Given the description of an element on the screen output the (x, y) to click on. 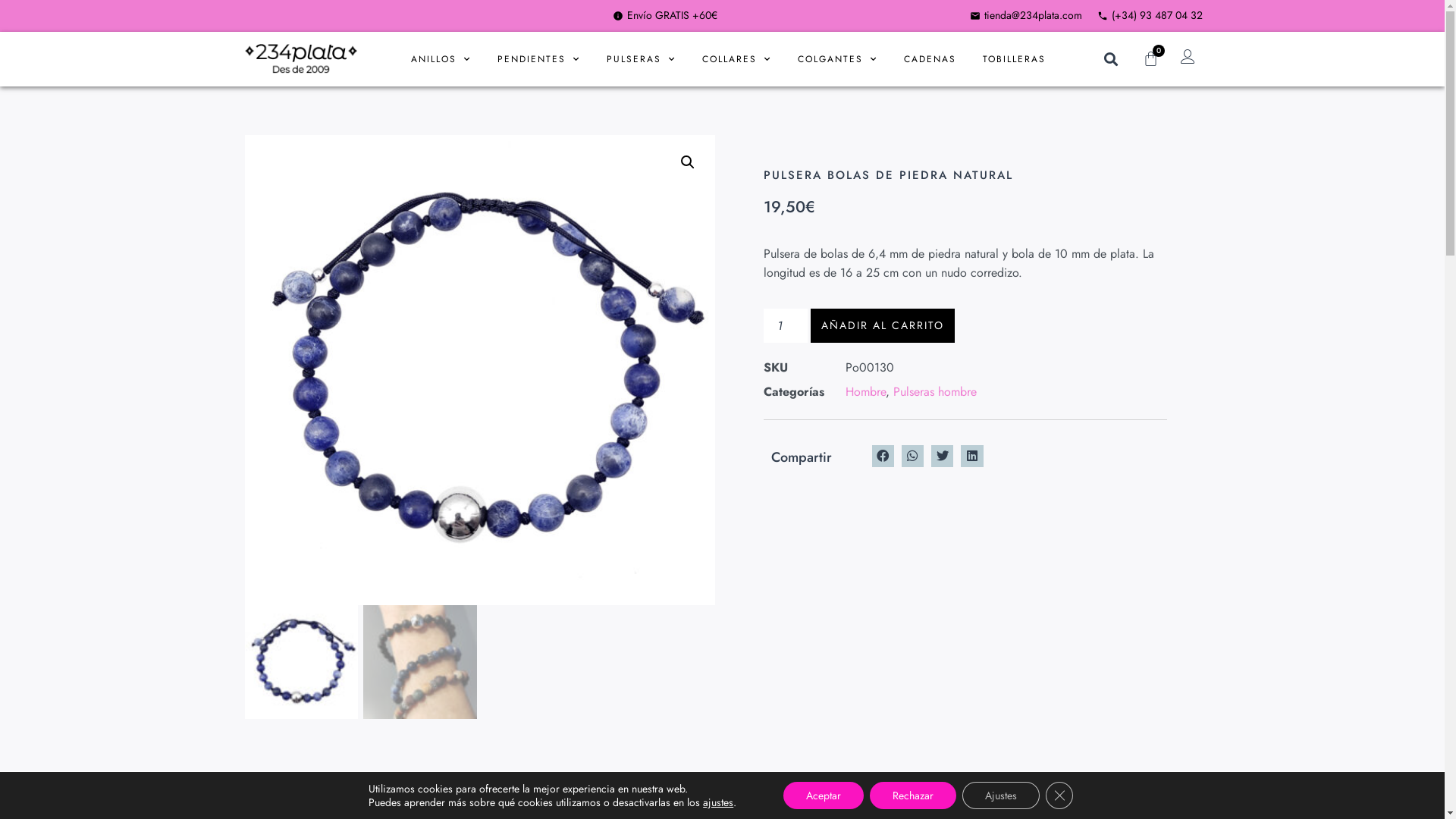
Aceptar Element type: text (823, 795)
PULSERAS Element type: text (640, 58)
COLGANTES Element type: text (837, 58)
(+34) 93 487 04 32 Element type: text (1148, 15)
Rechazar Element type: text (912, 795)
tienda@234plata.com Element type: text (1024, 15)
Hombre Element type: text (864, 391)
ajustes Element type: text (717, 802)
TOBILLERAS Element type: text (1013, 58)
ANILLOS Element type: text (440, 58)
0 Element type: text (1150, 58)
234-plata-Polsera-boles-de-pedra-natural-blau-i-bola-plata-1 Element type: hover (479, 369)
Cerrar el banner de cookies RGPD Element type: text (1059, 795)
LOGO 234 PLATA NEGRE 3 Element type: hover (300, 58)
COLLARES Element type: text (736, 58)
CADENAS Element type: text (929, 58)
Pulseras hombre Element type: text (934, 391)
PENDIENTES Element type: text (538, 58)
Ajustes Element type: text (1000, 795)
